Given the description of an element on the screen output the (x, y) to click on. 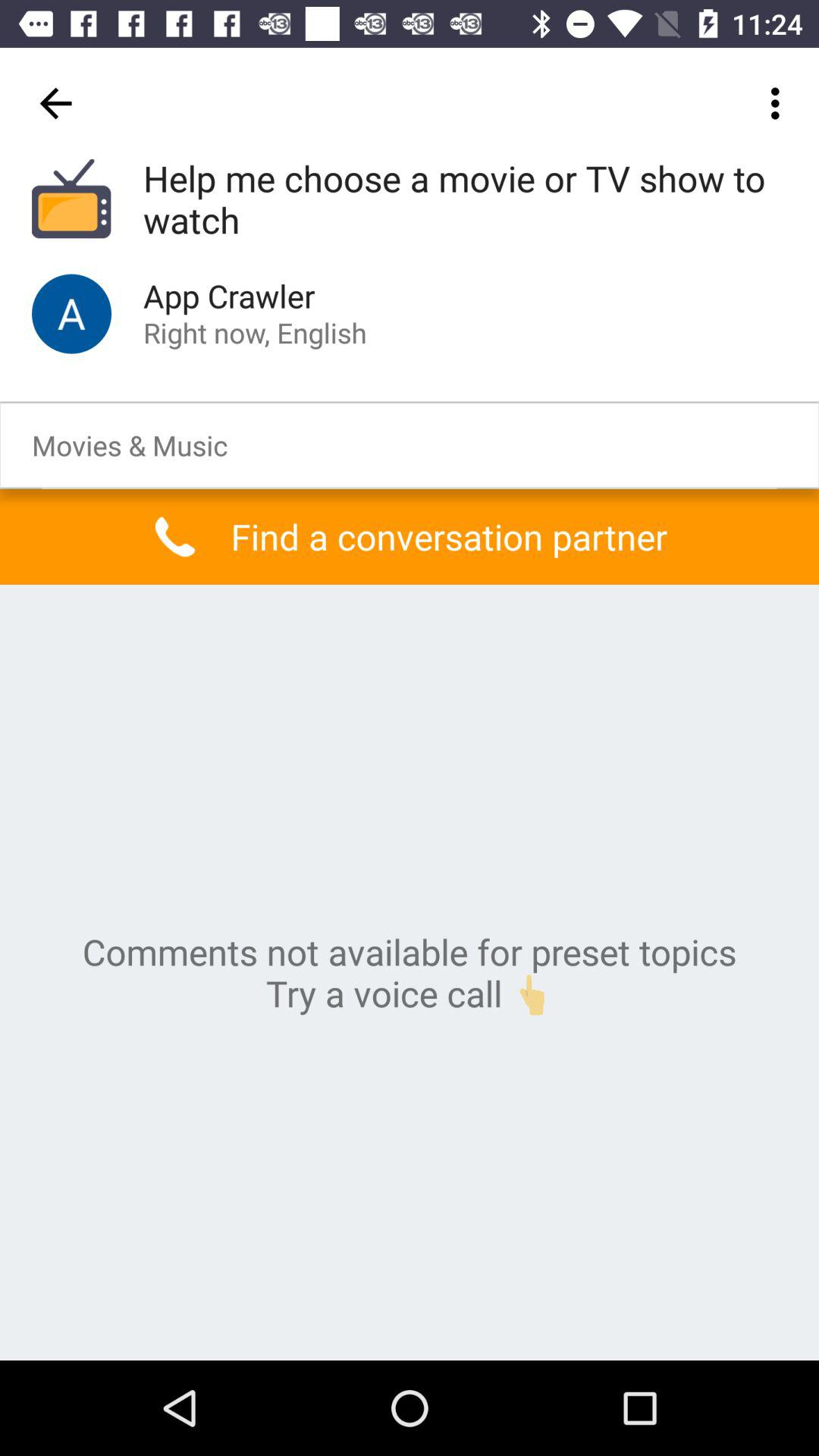
turn off item next to help me choose (55, 103)
